Given the description of an element on the screen output the (x, y) to click on. 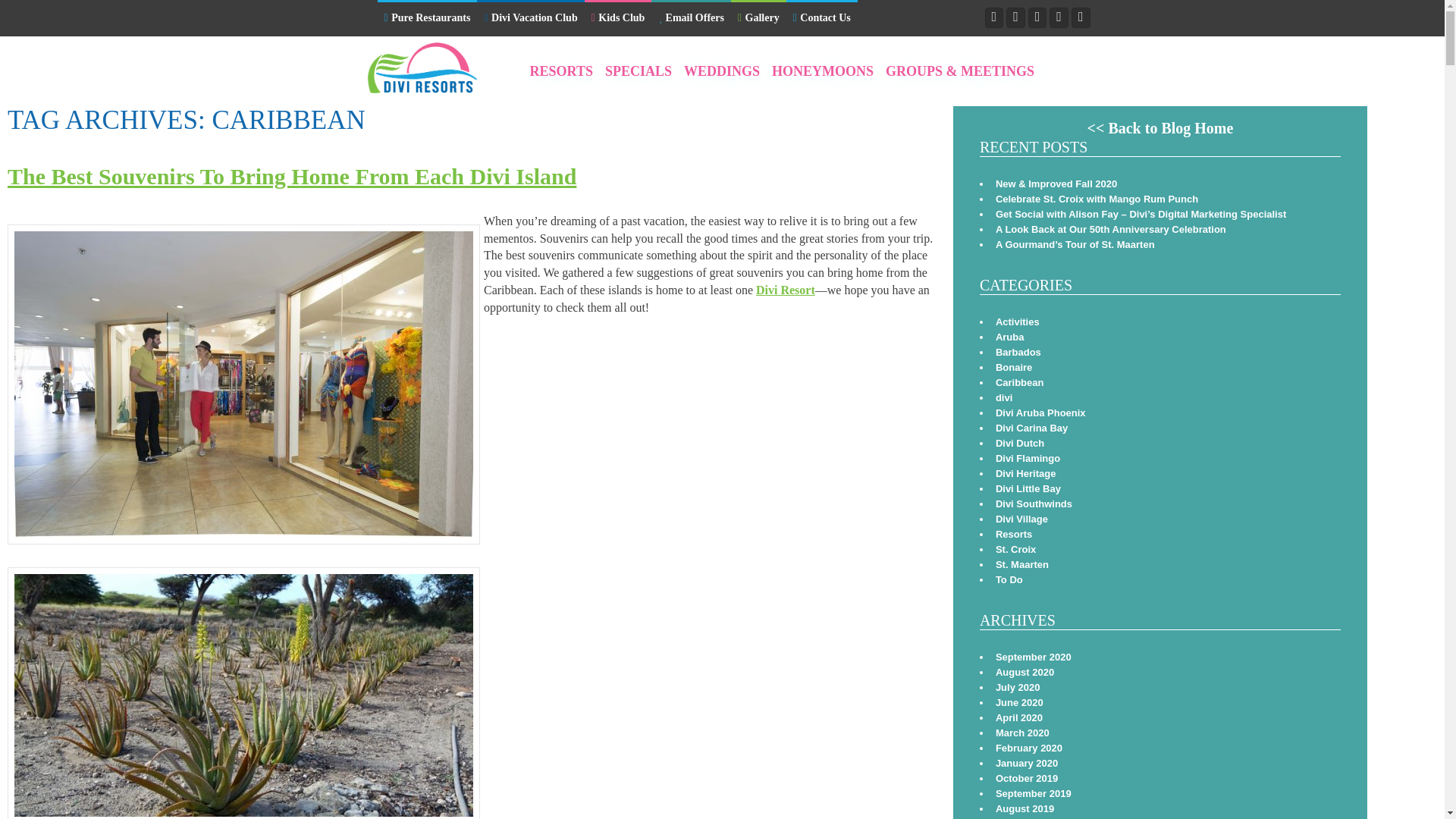
RESORTS (560, 71)
Kids Club (618, 19)
Gallery (758, 19)
WEDDINGS (720, 71)
SPECIALS (638, 71)
Email Offers (690, 19)
Divi Vacation Club (530, 19)
Contact Us (821, 19)
HONEYMOONS (822, 71)
The Best Souvenirs To Bring Home From Each Divi Island (291, 176)
Pure Restaurants (427, 19)
Divi Resort (785, 289)
